Given the description of an element on the screen output the (x, y) to click on. 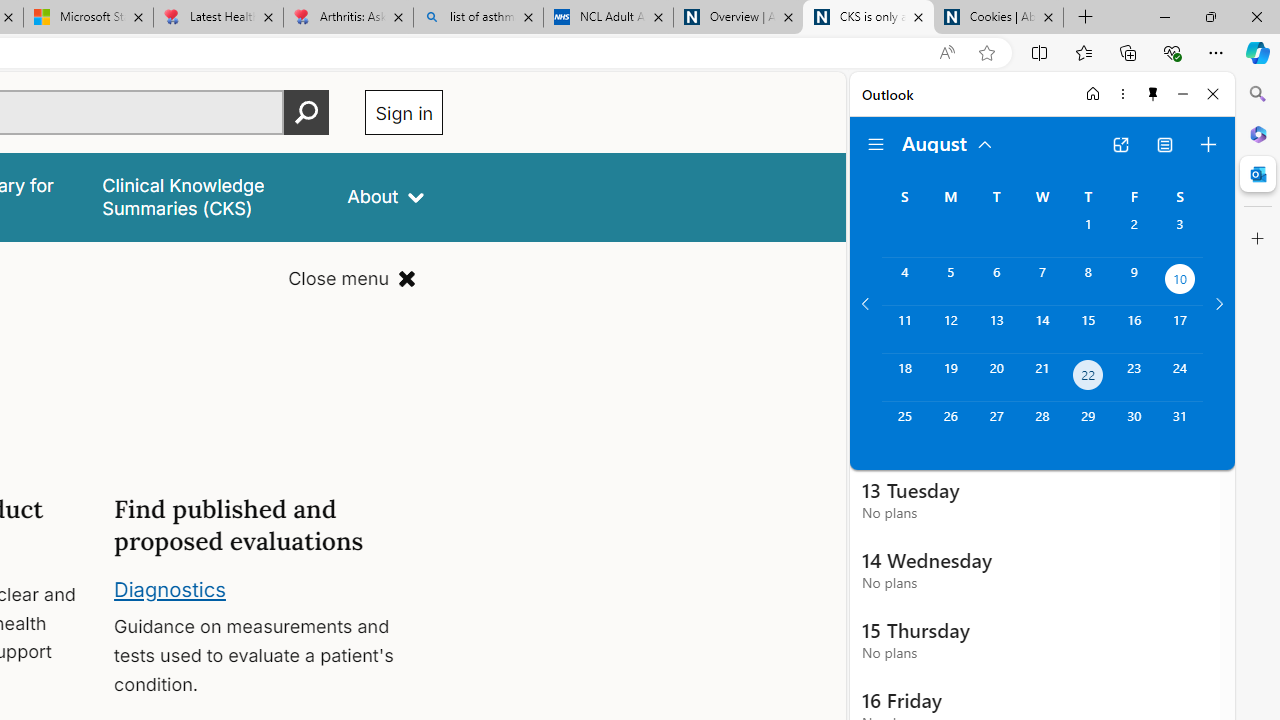
Perform search (307, 112)
Saturday, August 10, 2024. Date selected.  (1180, 281)
NCL Adult Asthma Inhaler Choice Guideline (608, 17)
Home (1093, 93)
Tuesday, August 27, 2024.  (996, 425)
Sunday, August 25, 2024.  (904, 425)
Microsoft 365 (1258, 133)
Close Customize pane (1258, 239)
